Given the description of an element on the screen output the (x, y) to click on. 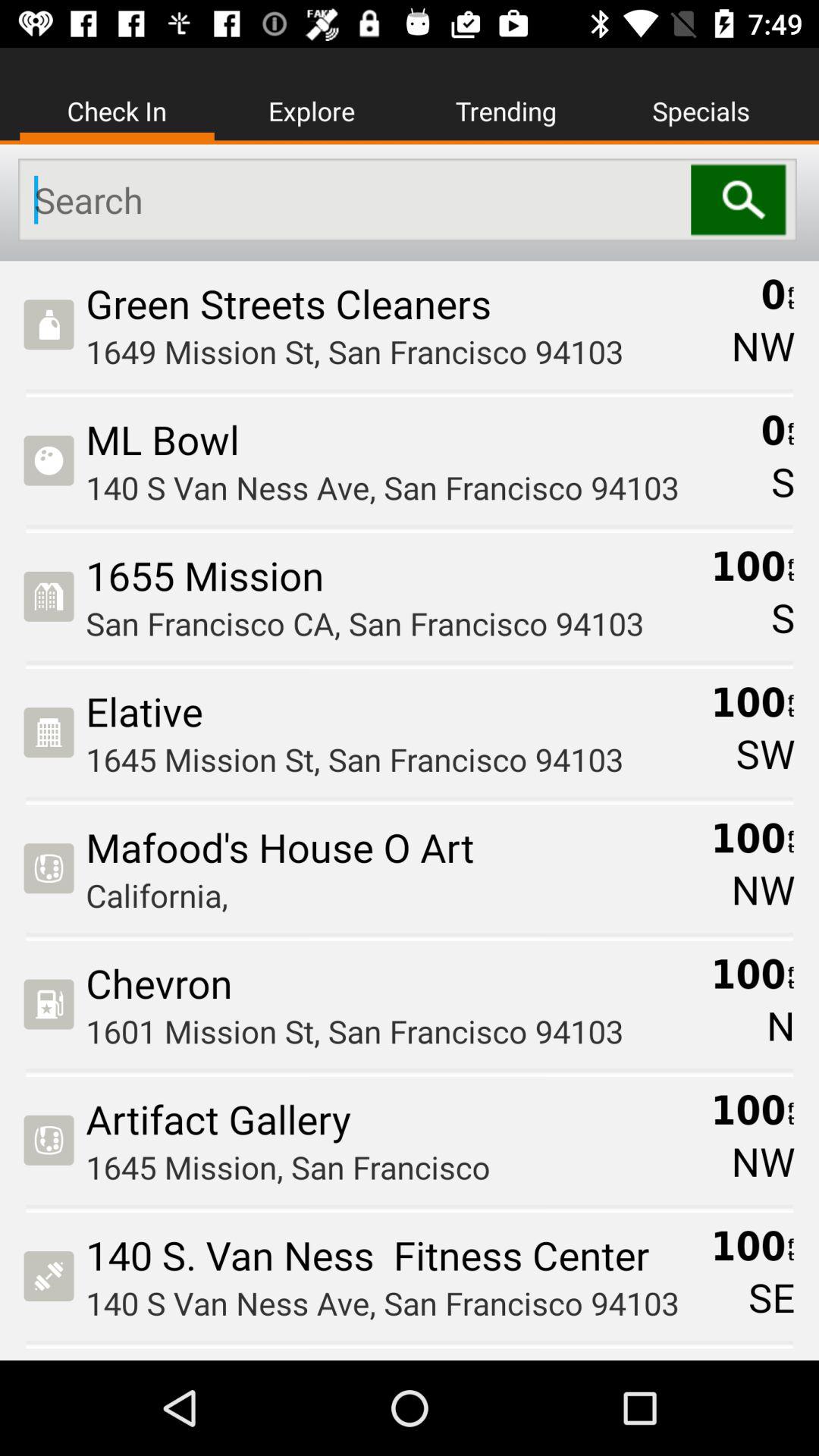
tap the ml bowl icon (417, 438)
